Given the description of an element on the screen output the (x, y) to click on. 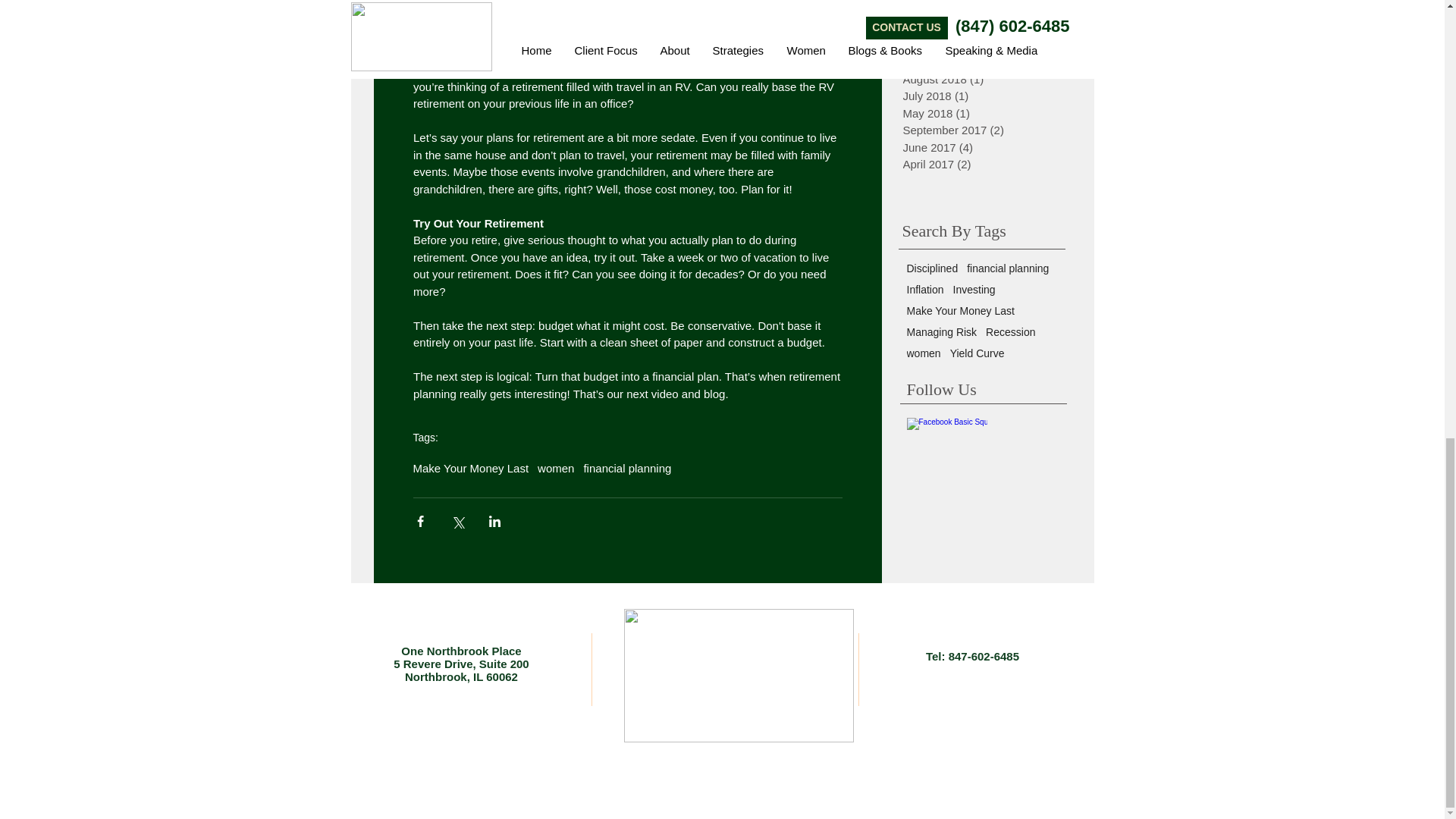
Make Your Money Last (470, 468)
financial planning (627, 468)
women (555, 468)
